Given the description of an element on the screen output the (x, y) to click on. 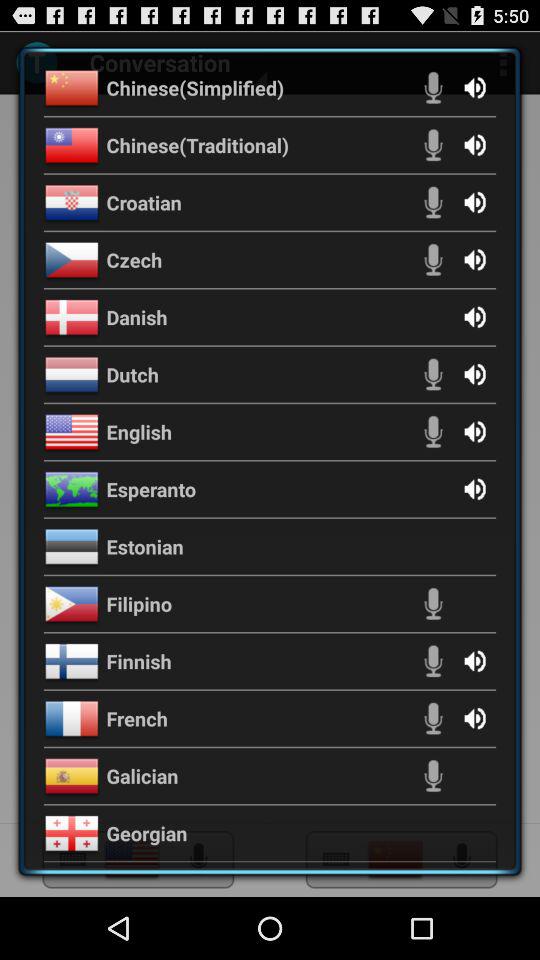
swipe to dutch (132, 374)
